Given the description of an element on the screen output the (x, y) to click on. 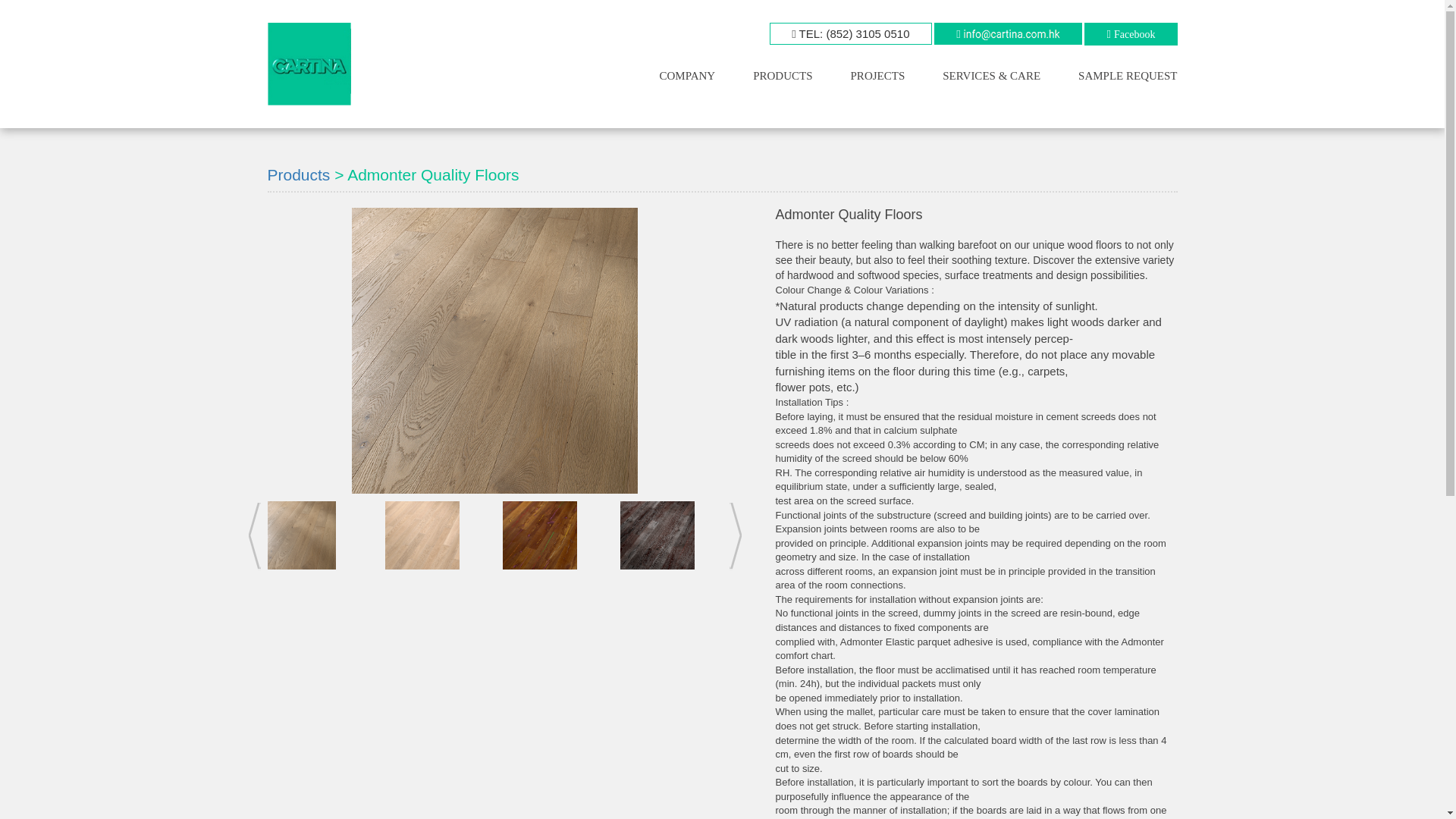
PRODUCTS (782, 79)
Prev (254, 536)
SAMPLE REQUEST (1127, 79)
COMPANY (687, 79)
Products (298, 174)
Next (735, 536)
PROJECTS (877, 79)
Facebook (1133, 34)
